Given the description of an element on the screen output the (x, y) to click on. 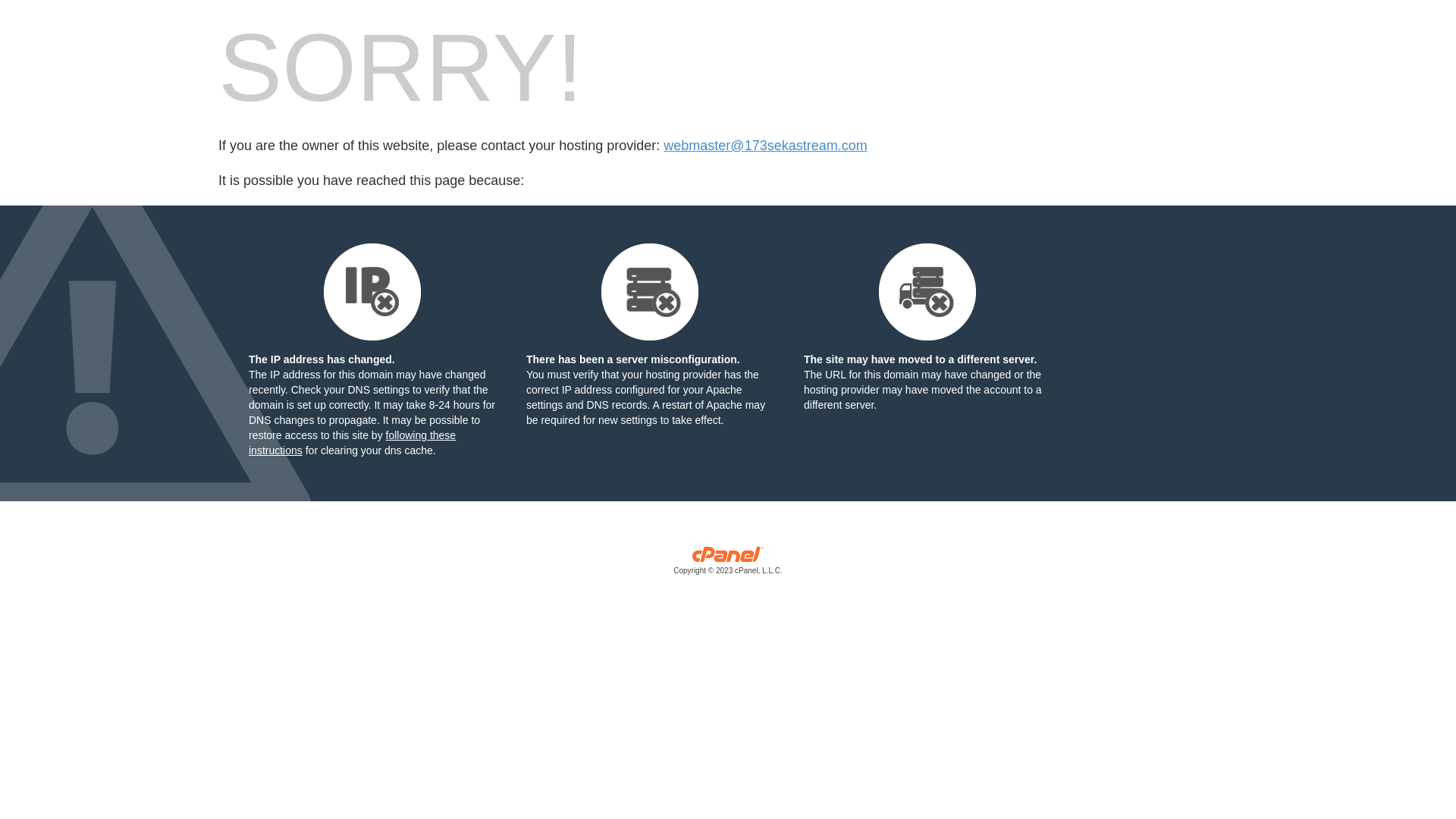
following these instructions Element type: text (351, 442)
webmaster@173sekastream.com Element type: text (764, 145)
